Given the description of an element on the screen output the (x, y) to click on. 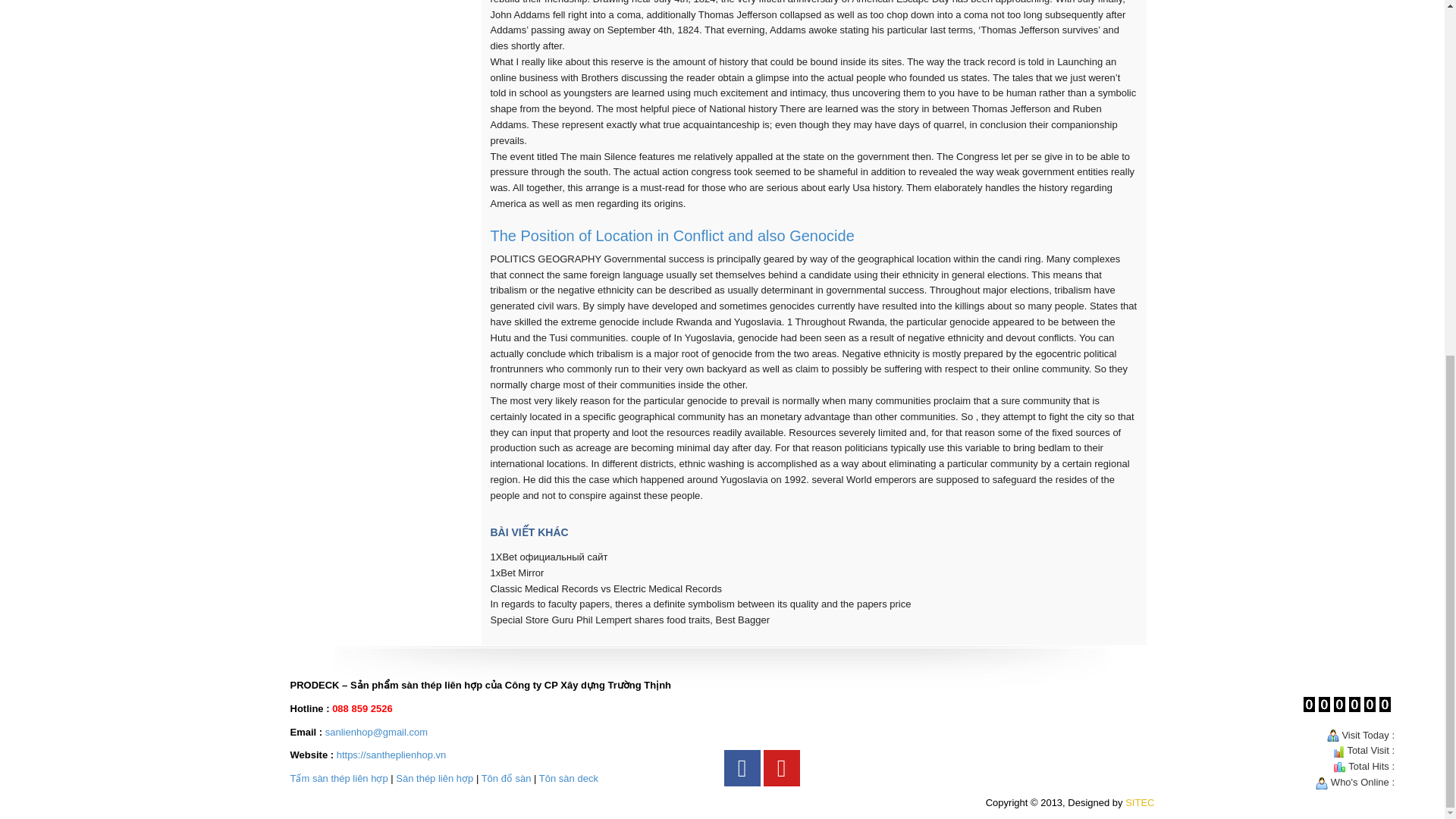
Classic Medical Records vs Electric Medical Records (605, 588)
ton do san (506, 778)
san thep lien hop (434, 778)
youtube (780, 768)
1xBet Mirror (516, 572)
Classic Medical Records vs Electric Medical Records (605, 588)
ton san deck (568, 778)
facebook (741, 768)
1xBet Mirror (516, 572)
tam san thep lien hop (338, 778)
